Given the description of an element on the screen output the (x, y) to click on. 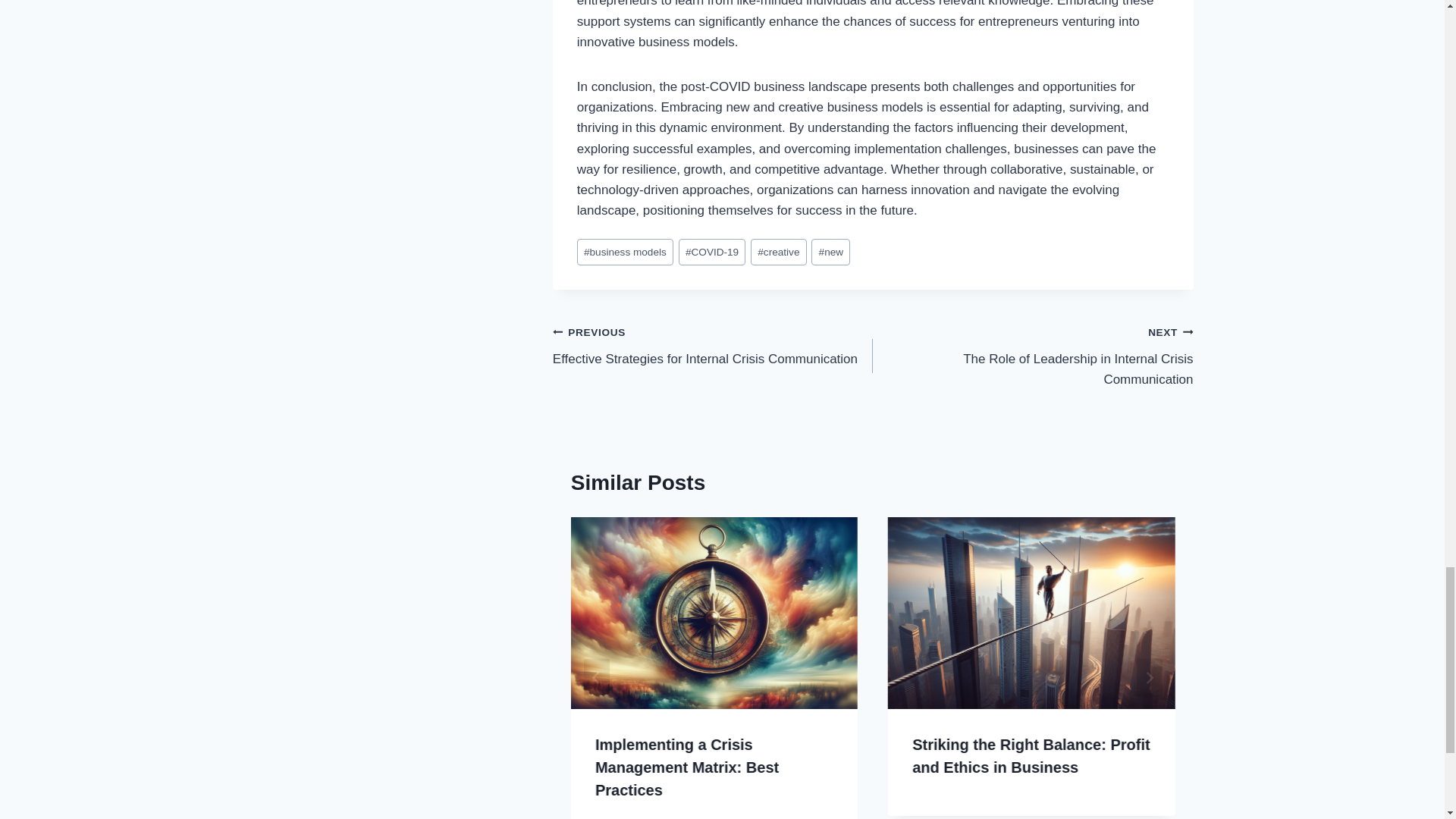
new (830, 252)
COVID-19 (711, 252)
Striking the Right Balance: Profit and Ethics in Business (1031, 755)
business models (1032, 355)
creative (624, 252)
Implementing a Crisis Management Matrix: Best Practices (778, 252)
